Given the description of an element on the screen output the (x, y) to click on. 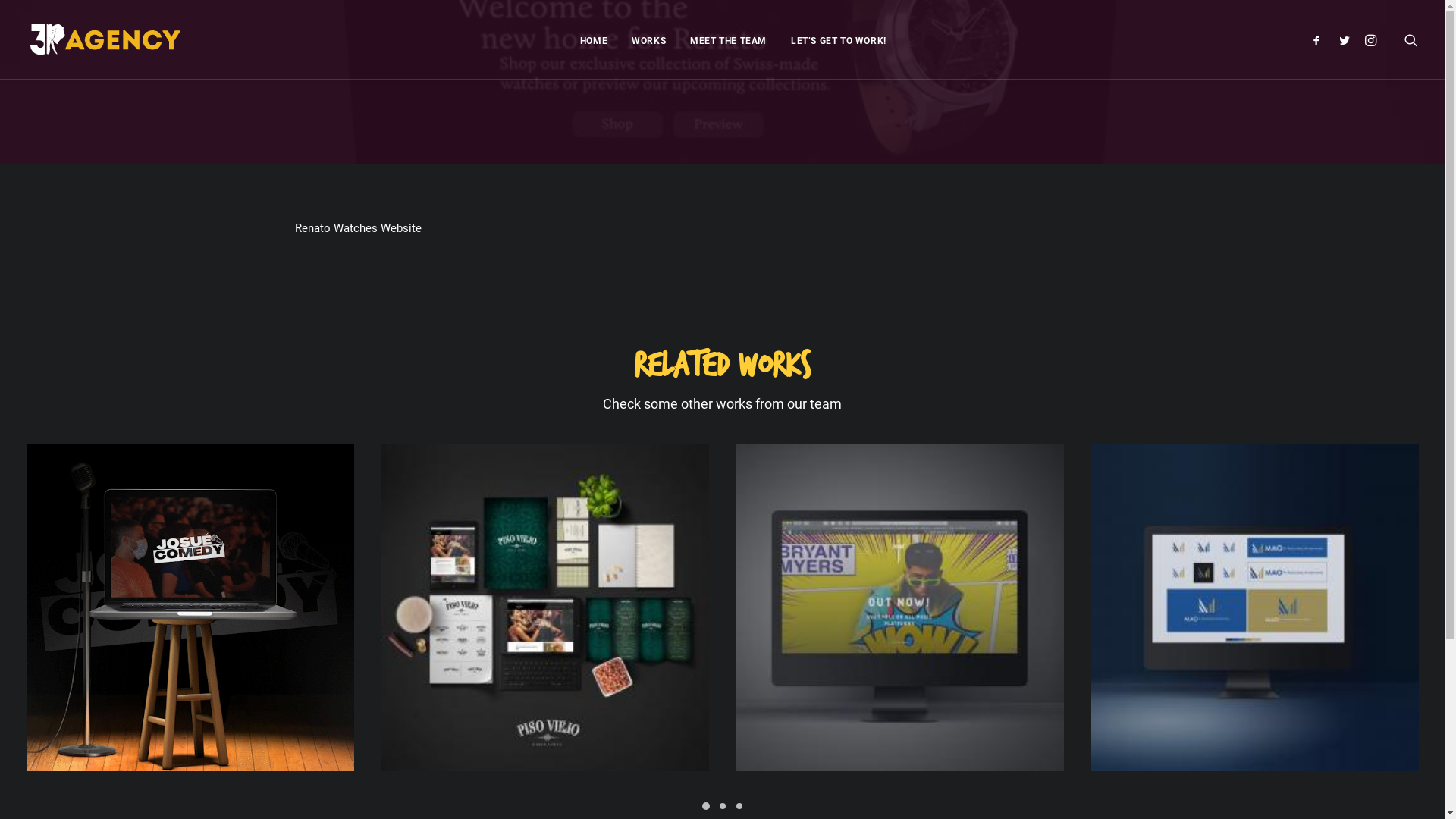
MEET THE TEAM Element type: text (728, 39)
WORKS Element type: text (648, 39)
HOME Element type: text (593, 39)
